Given the description of an element on the screen output the (x, y) to click on. 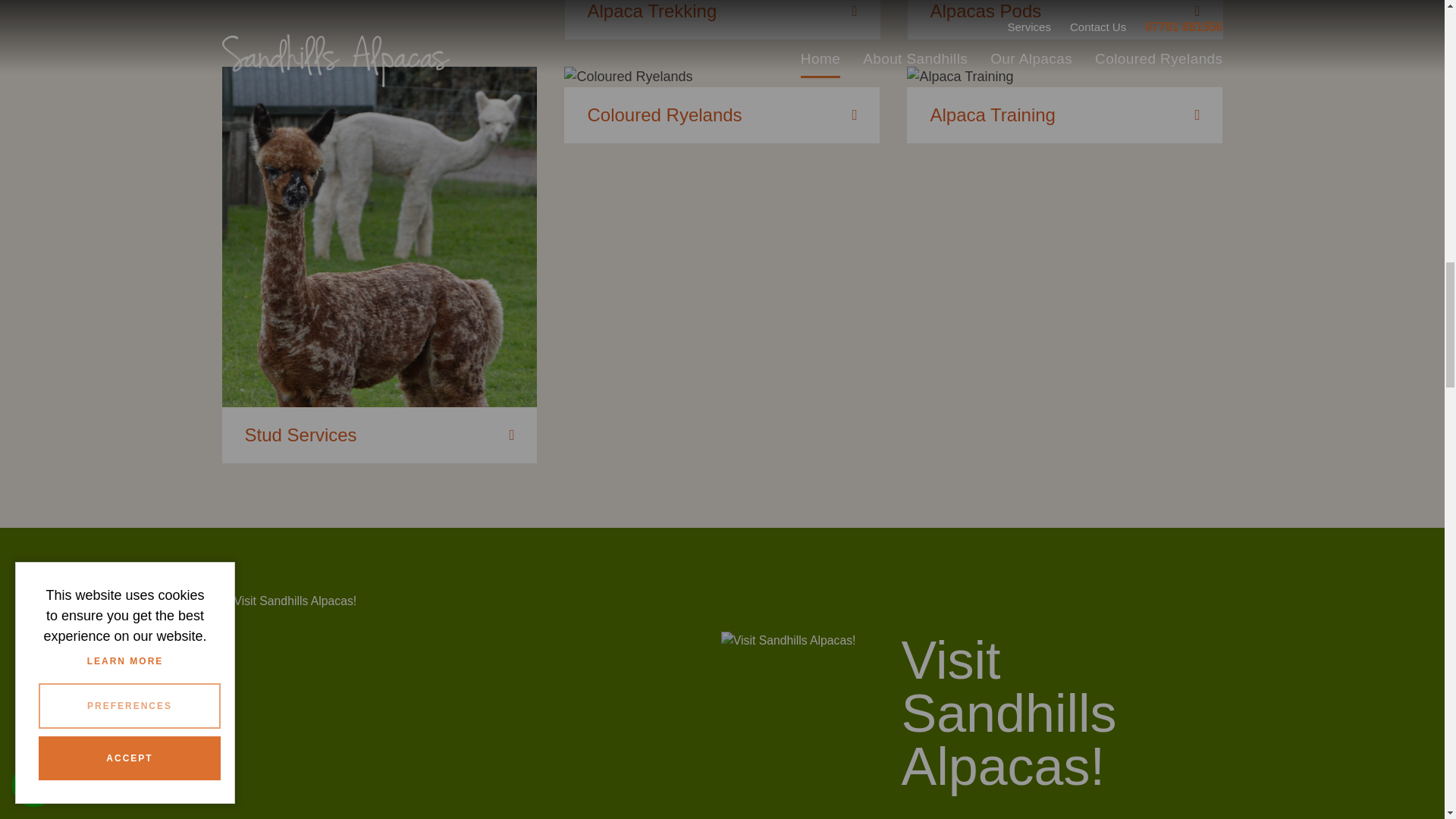
read more (721, 104)
read more (1065, 19)
read more (722, 19)
read more (1065, 104)
